Given the description of an element on the screen output the (x, y) to click on. 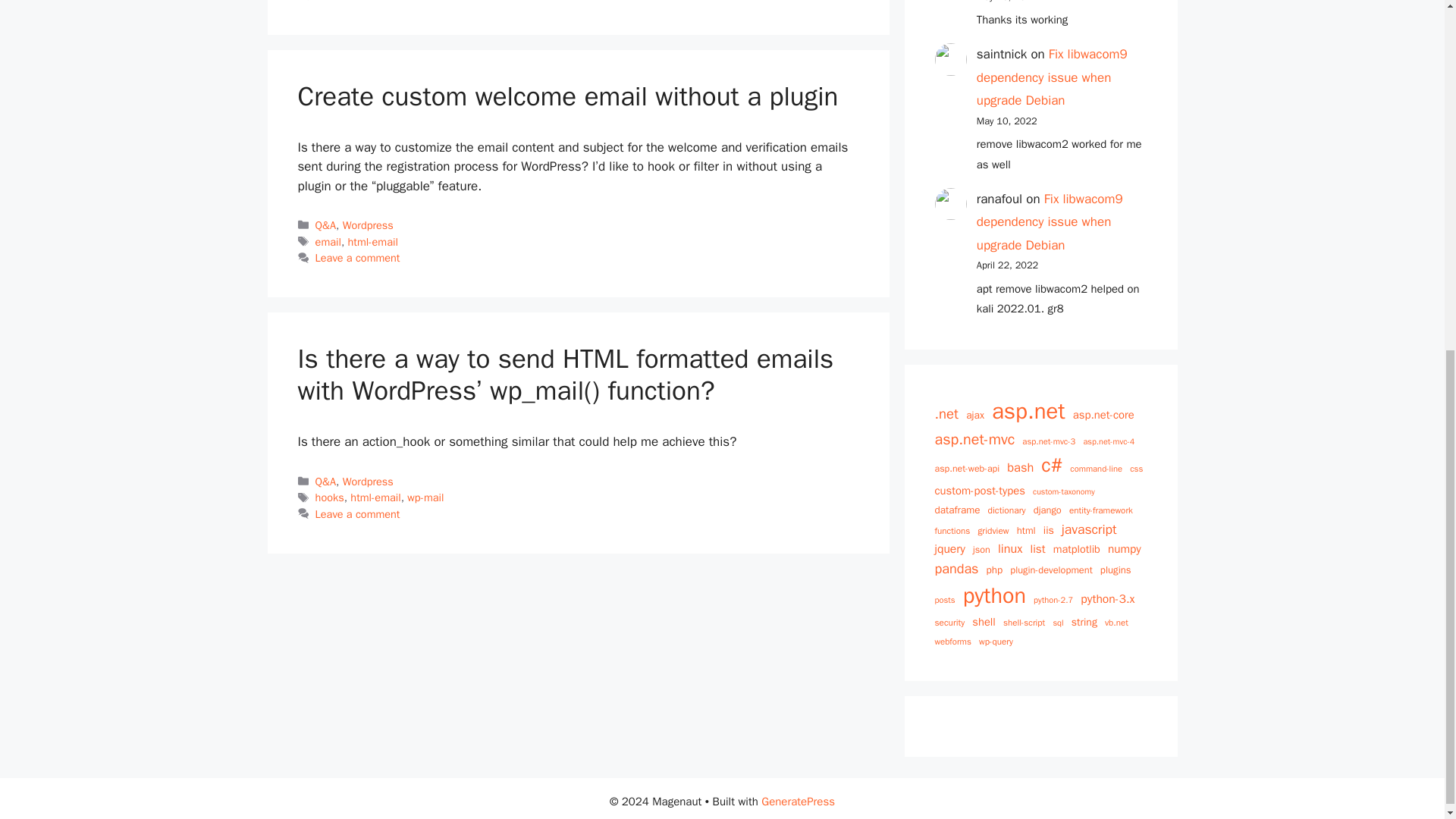
html-email (372, 241)
Create custom welcome email without a plugin (567, 96)
Leave a comment (357, 1)
email (327, 241)
Leave a comment (357, 257)
Wordpress (367, 224)
